Given the description of an element on the screen output the (x, y) to click on. 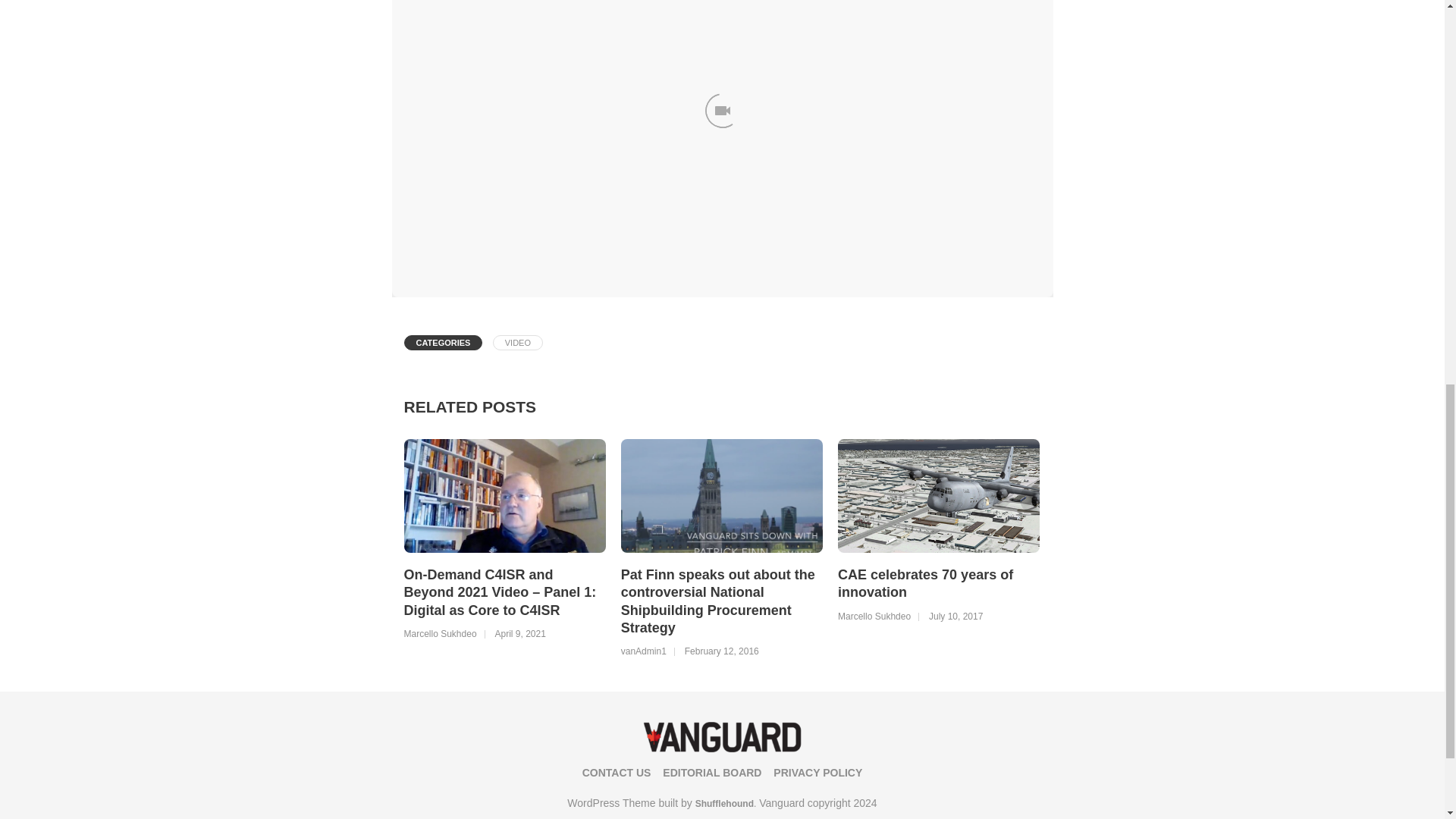
CONTACT US (617, 772)
PRIVACY POLICY (817, 772)
Shufflehound. (726, 803)
EDITORIAL BOARD (711, 772)
VIDEO (518, 342)
